Given the description of an element on the screen output the (x, y) to click on. 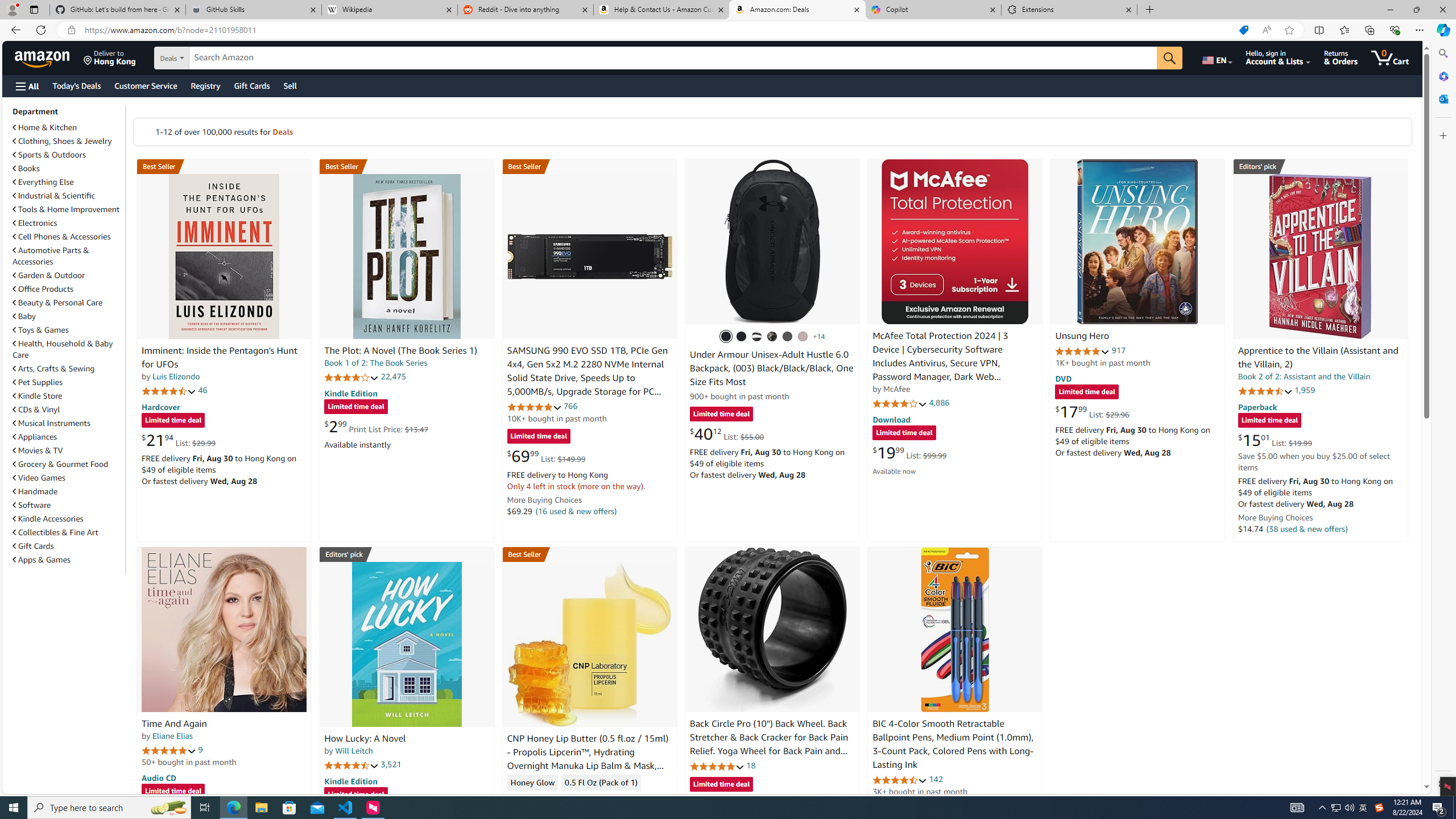
22,475 (393, 376)
The Plot: A Novel (The Book Series 1) (406, 256)
How Lucky: A Novel (365, 738)
Toys & Games (40, 329)
Imminent: Inside the Pentagon's Hunt for UFOs (223, 256)
$15.01 List: $19.99 (1274, 439)
Beauty & Personal Care (67, 301)
Paperback (1256, 406)
(16 used & new offers) (576, 511)
Eliane Elias (171, 735)
